Given the description of an element on the screen output the (x, y) to click on. 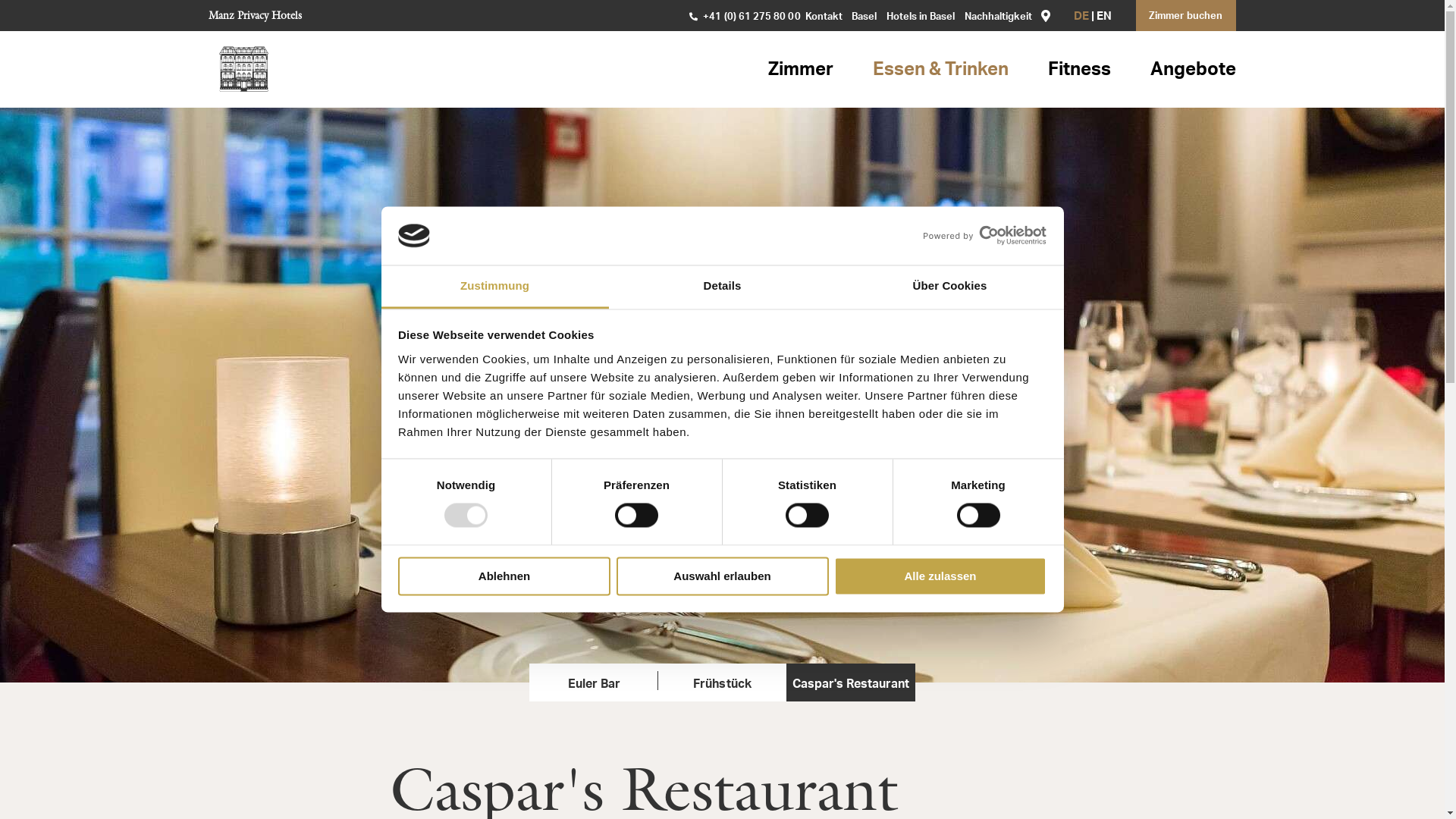
Caspar's Restaurant Element type: text (850, 682)
Nachhaltigkeit Element type: text (998, 16)
Kontakt Element type: text (824, 16)
Zimmer buchen Element type: text (1185, 15)
Euler Bar Element type: text (593, 682)
Details Element type: text (721, 286)
Ablehnen Element type: text (504, 575)
Basel Element type: text (863, 16)
Essen & Trinken Element type: text (940, 70)
DE Element type: text (1080, 16)
Zustimmung Element type: text (494, 286)
+41 (0) 61 275 80 00 Element type: text (744, 17)
Zimmer Element type: text (800, 70)
EN Element type: text (1103, 16)
Manz Privacy Hotels Element type: text (254, 14)
Hotels in Basel Element type: text (919, 16)
Auswahl erlauben Element type: text (721, 575)
Back to home Element type: hover (243, 68)
Fitness Element type: text (1079, 70)
Alle zulassen Element type: text (940, 575)
Visit us at Googlemaps Element type: hover (1045, 15)
Angebote Element type: text (1193, 70)
